Given the description of an element on the screen output the (x, y) to click on. 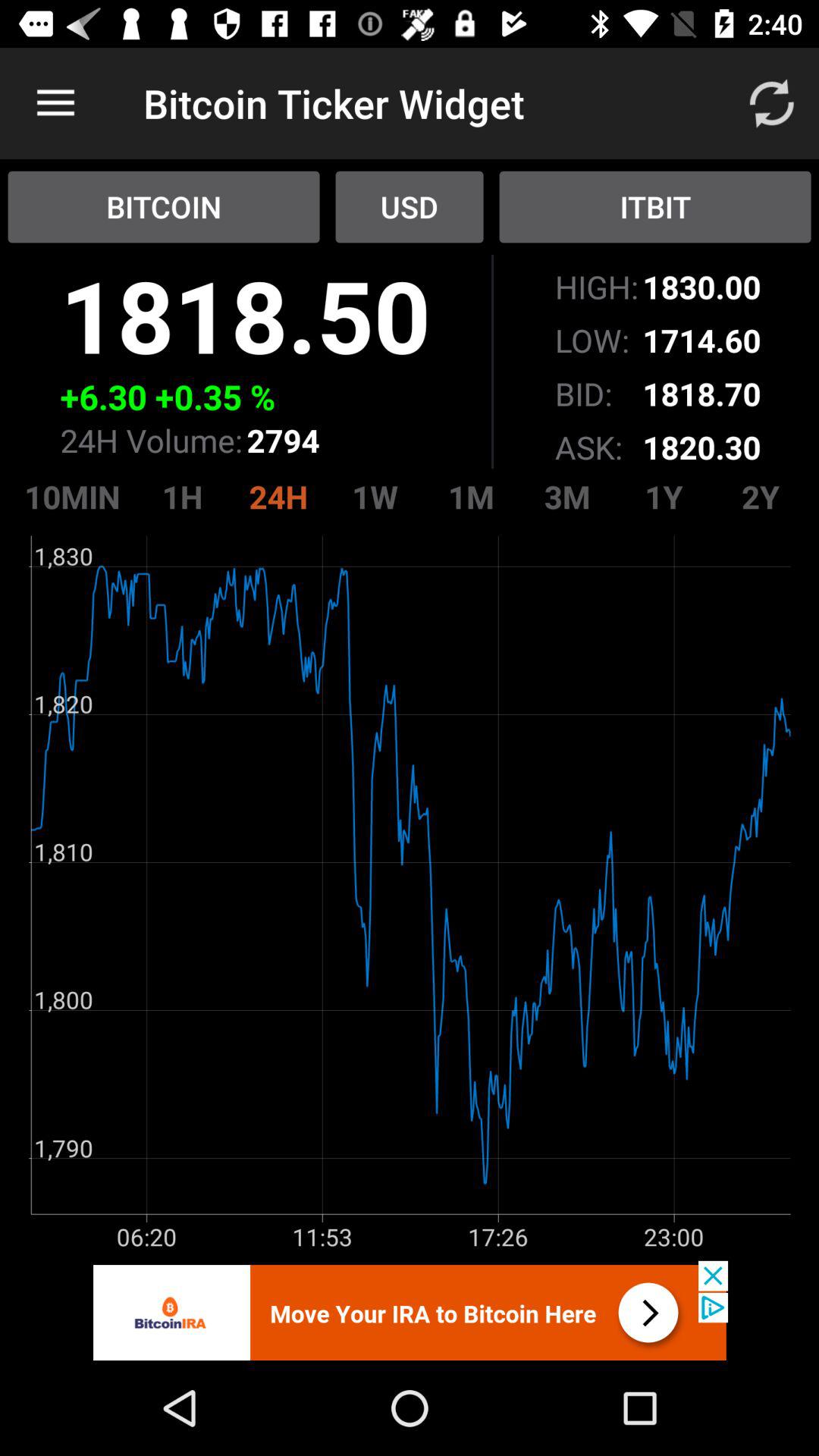
advert banner (409, 1310)
